Given the description of an element on the screen output the (x, y) to click on. 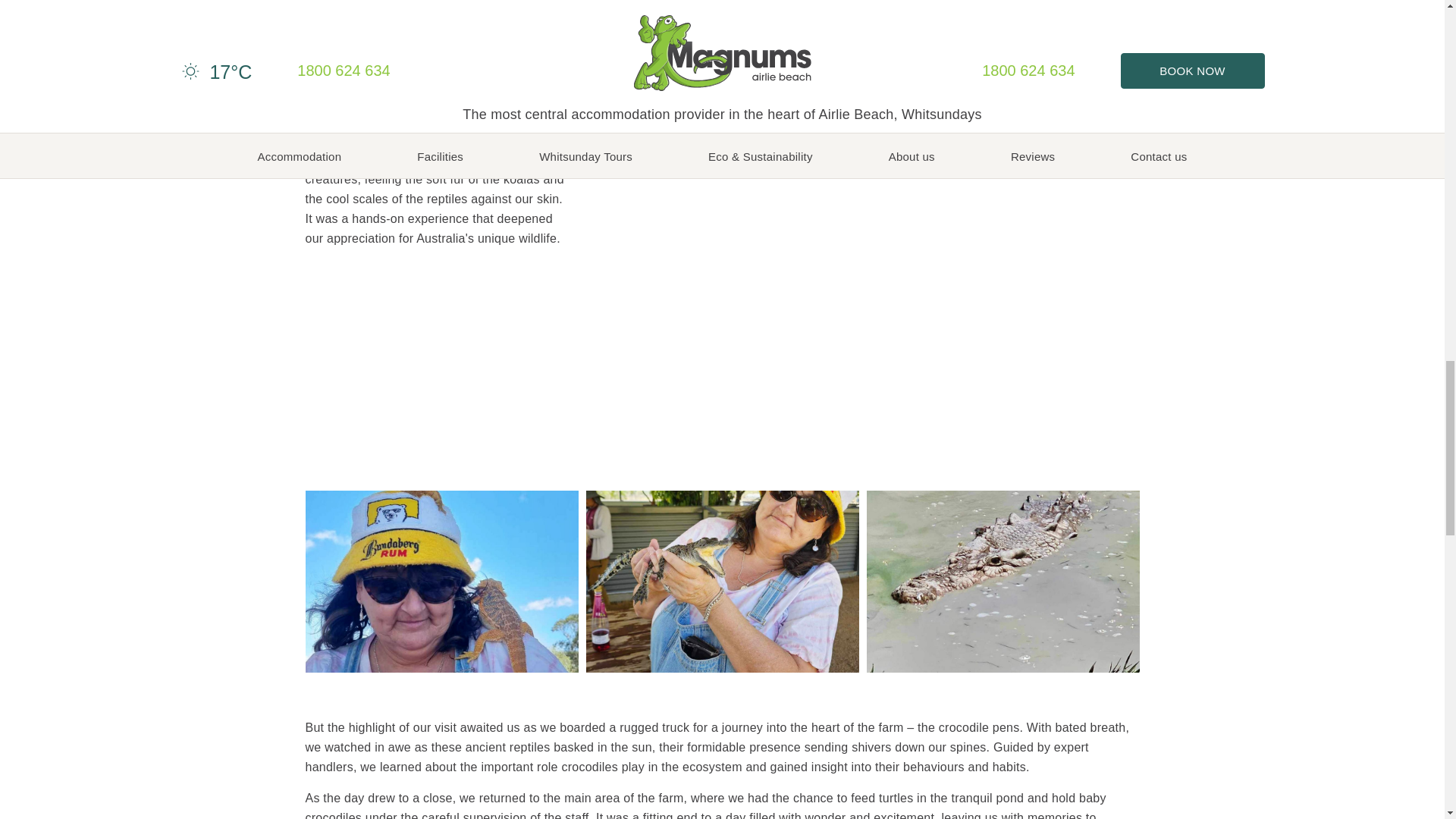
kangaroo (1010, 248)
Koala (723, 248)
